Given the description of an element on the screen output the (x, y) to click on. 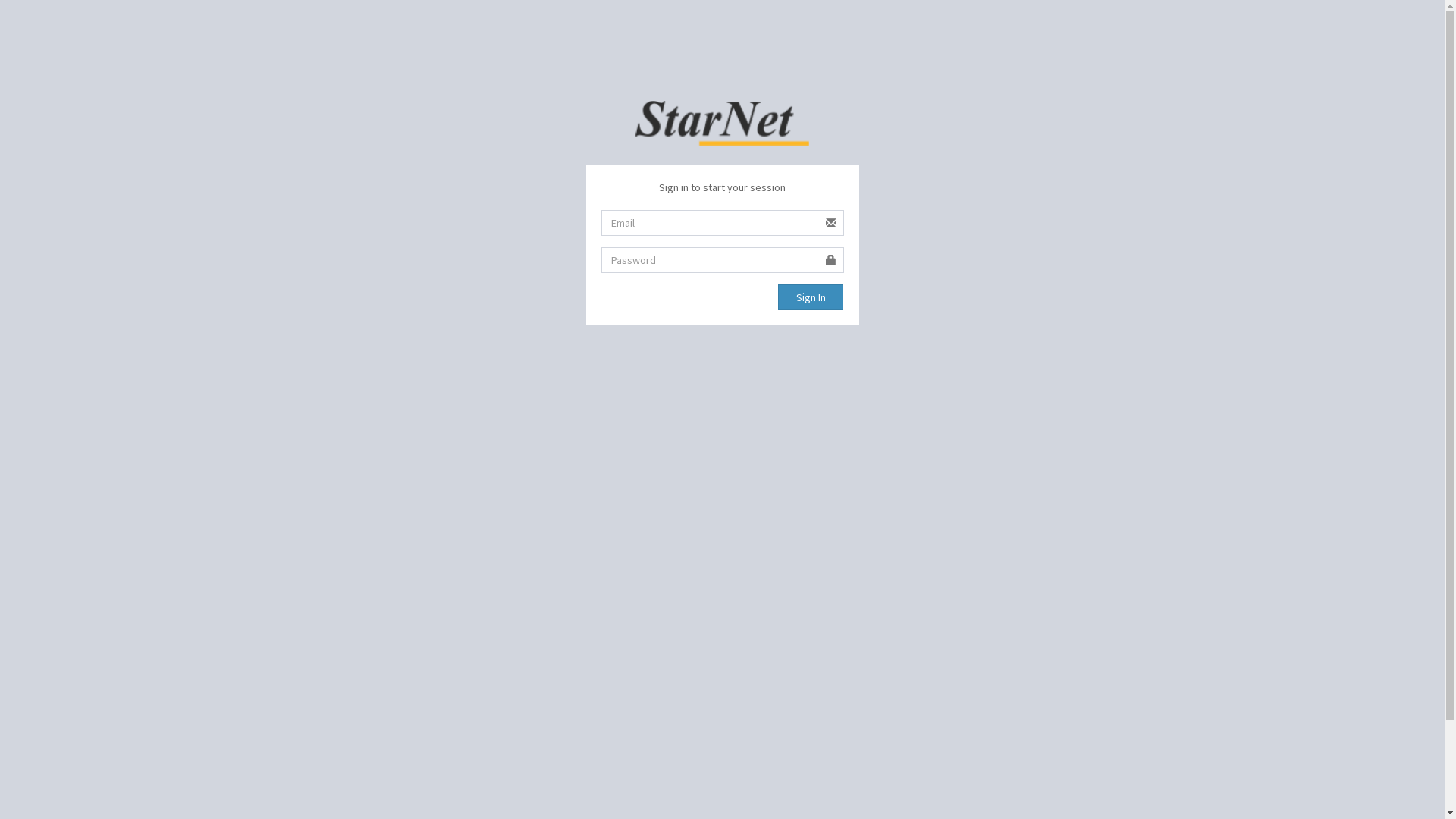
Sign In Element type: text (811, 297)
